Given the description of an element on the screen output the (x, y) to click on. 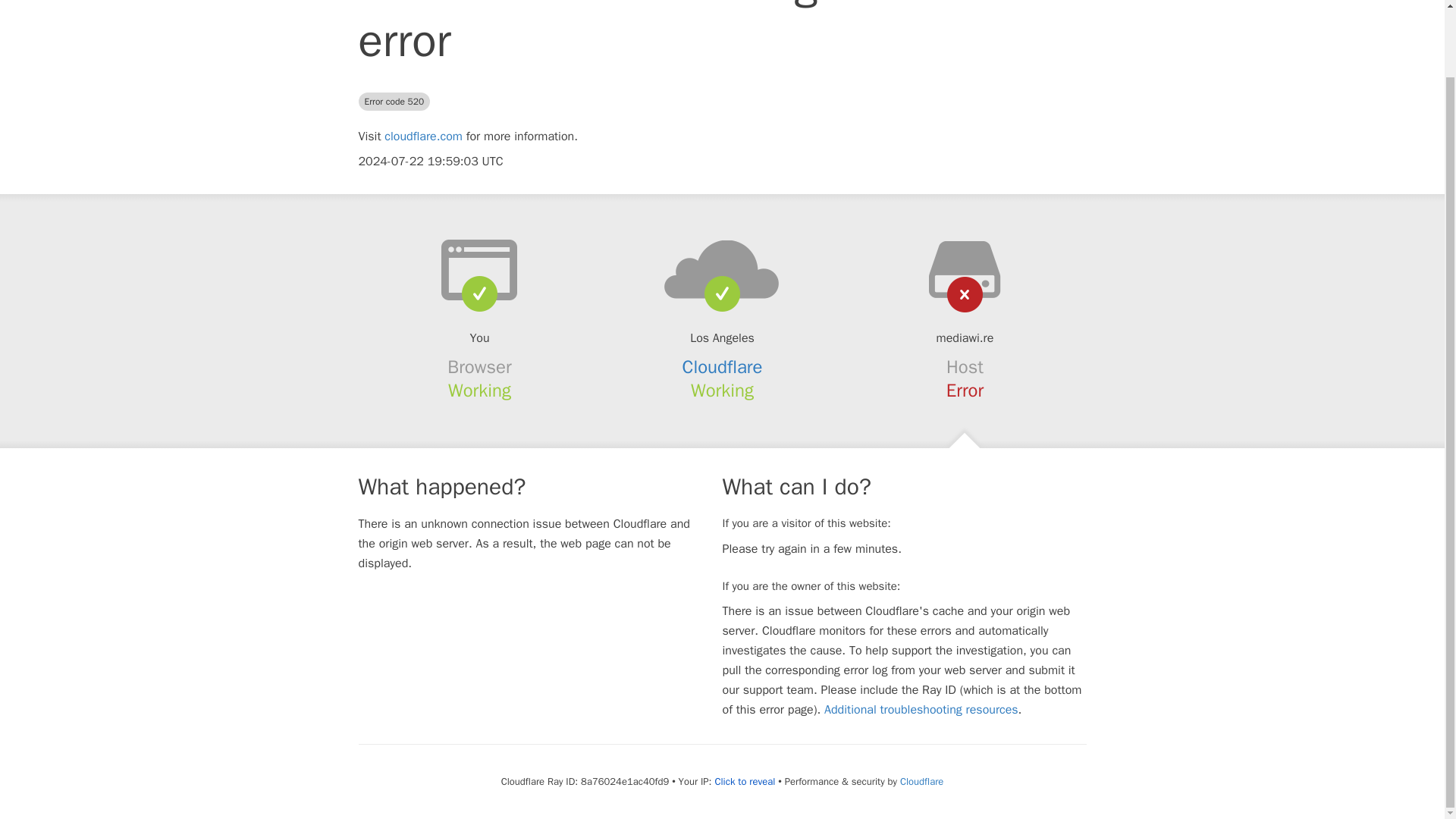
Additional troubleshooting resources (920, 709)
Cloudflare (722, 366)
cloudflare.com (423, 136)
Cloudflare (921, 780)
Click to reveal (744, 781)
